Given the description of an element on the screen output the (x, y) to click on. 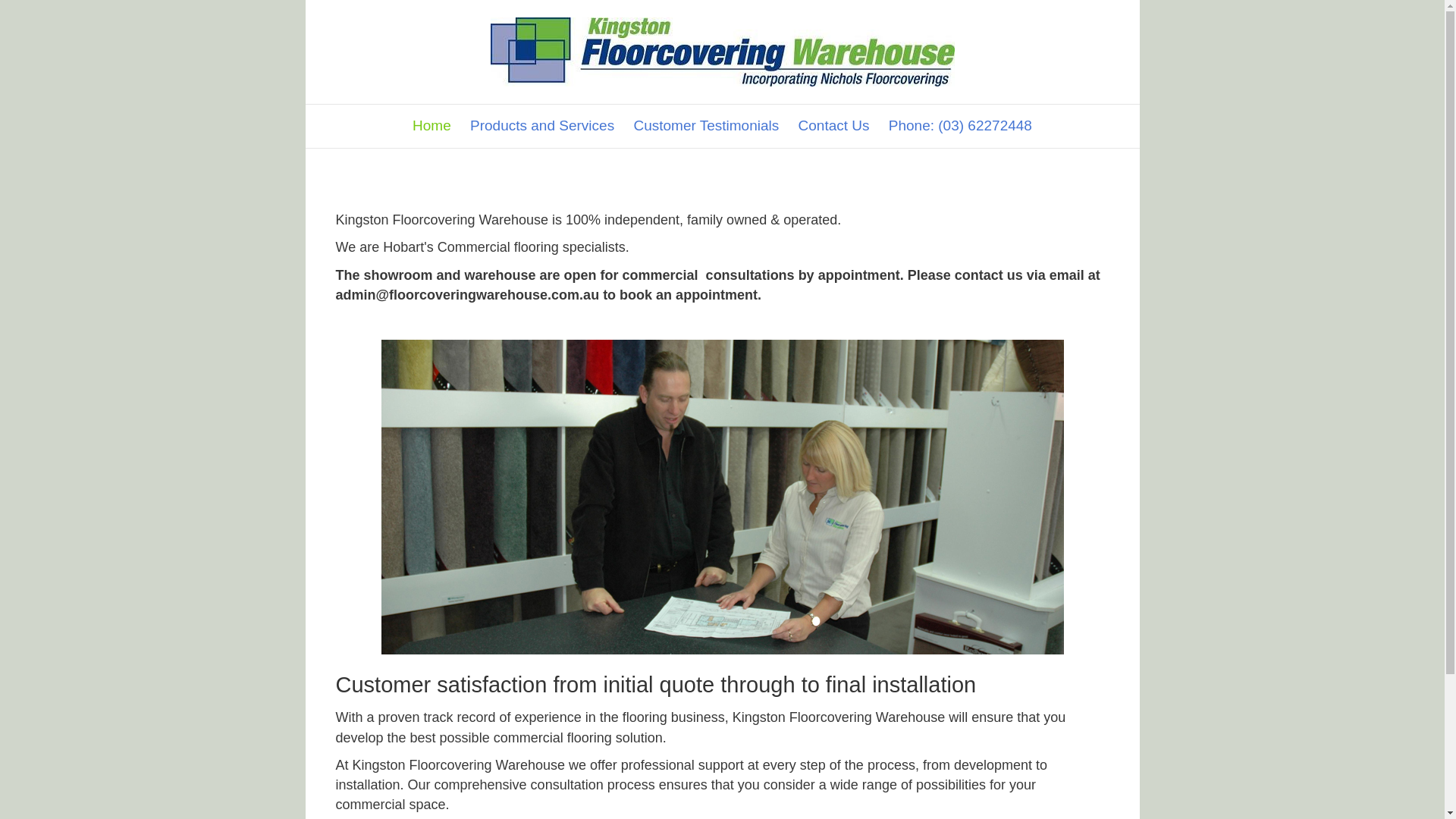
Phone: (03) 62272448 Element type: text (960, 125)
Home Element type: text (431, 125)
Contact Us Element type: text (833, 125)
Products and Services Element type: text (541, 125)
Customer Testimonials Element type: text (705, 125)
